Given the description of an element on the screen output the (x, y) to click on. 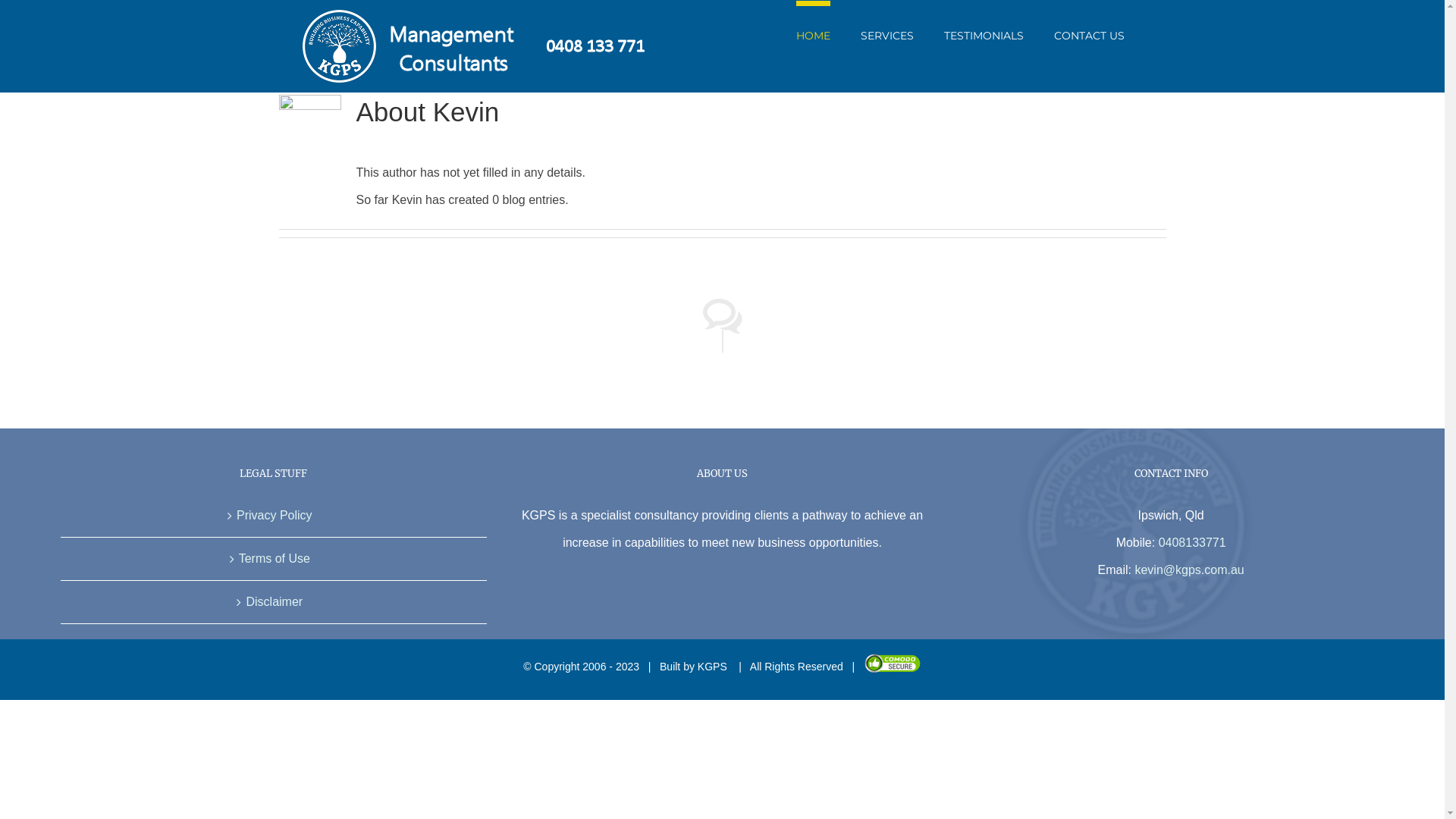
TESTIMONIALS Element type: text (982, 32)
CONTACT US Element type: text (1089, 32)
SERVICES Element type: text (886, 32)
Privacy Policy Element type: text (274, 515)
Disclaimer Element type: text (274, 601)
HOME Element type: text (813, 32)
0408133771 Element type: text (1192, 542)
Terms of Use Element type: text (274, 558)
kevin@kgps.com.au Element type: text (1188, 569)
